Given the description of an element on the screen output the (x, y) to click on. 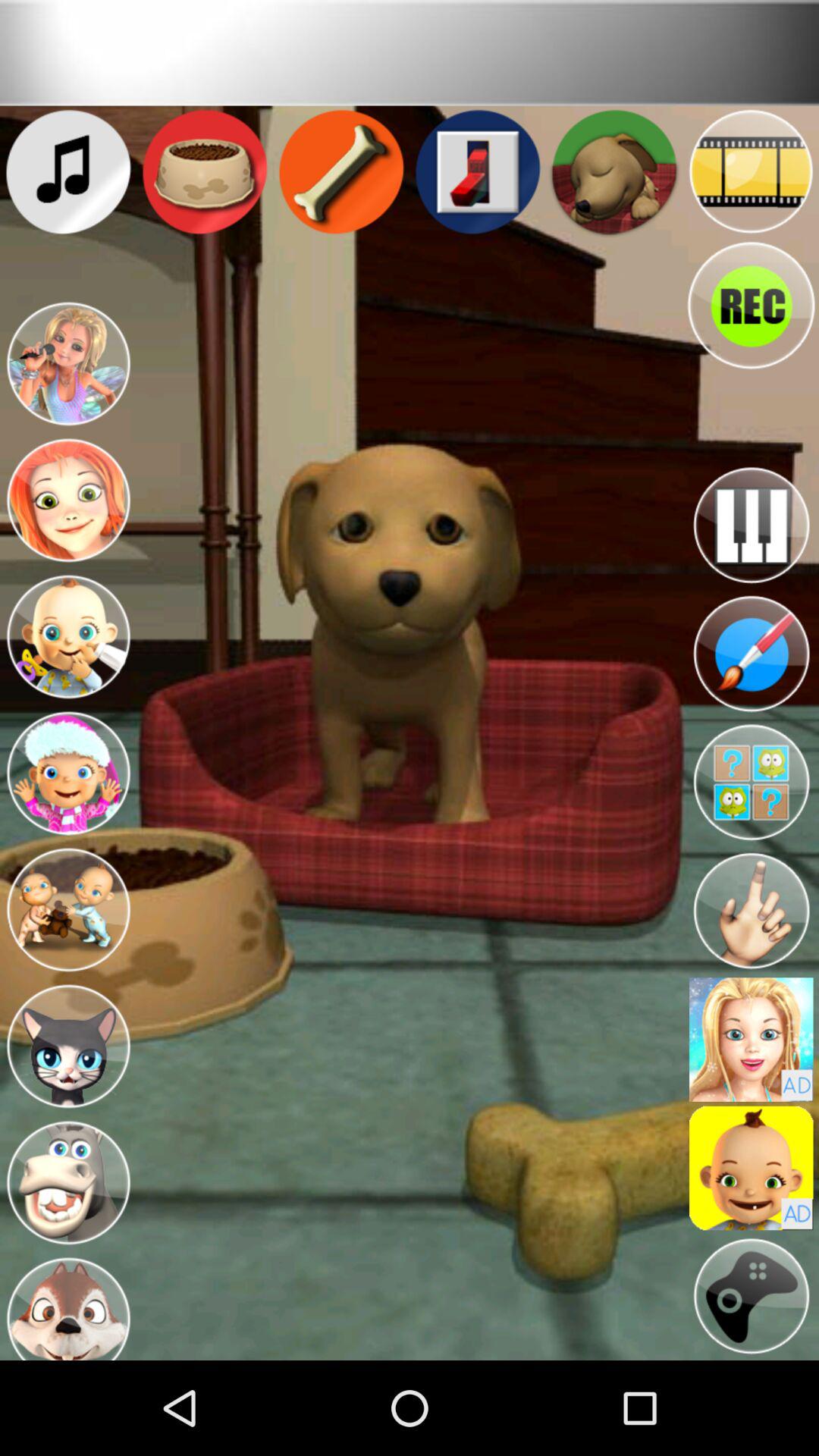
select squirel (68, 1305)
